Given the description of an element on the screen output the (x, y) to click on. 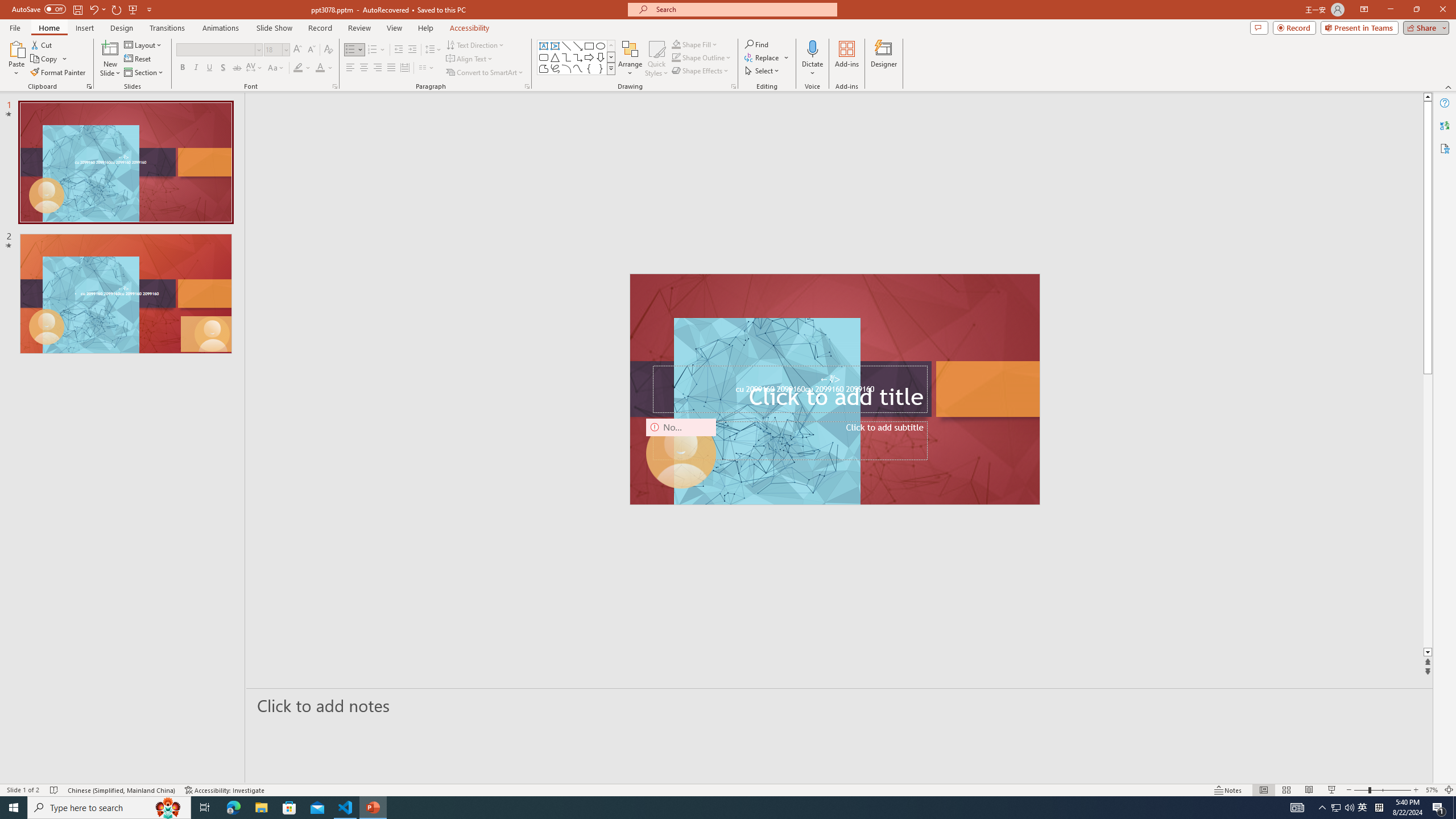
Curve (577, 68)
Oval (600, 45)
An abstract genetic concept (834, 389)
Right Brace (600, 68)
Text Highlight Color Yellow (297, 67)
TextBox 61 (833, 390)
